Given the description of an element on the screen output the (x, y) to click on. 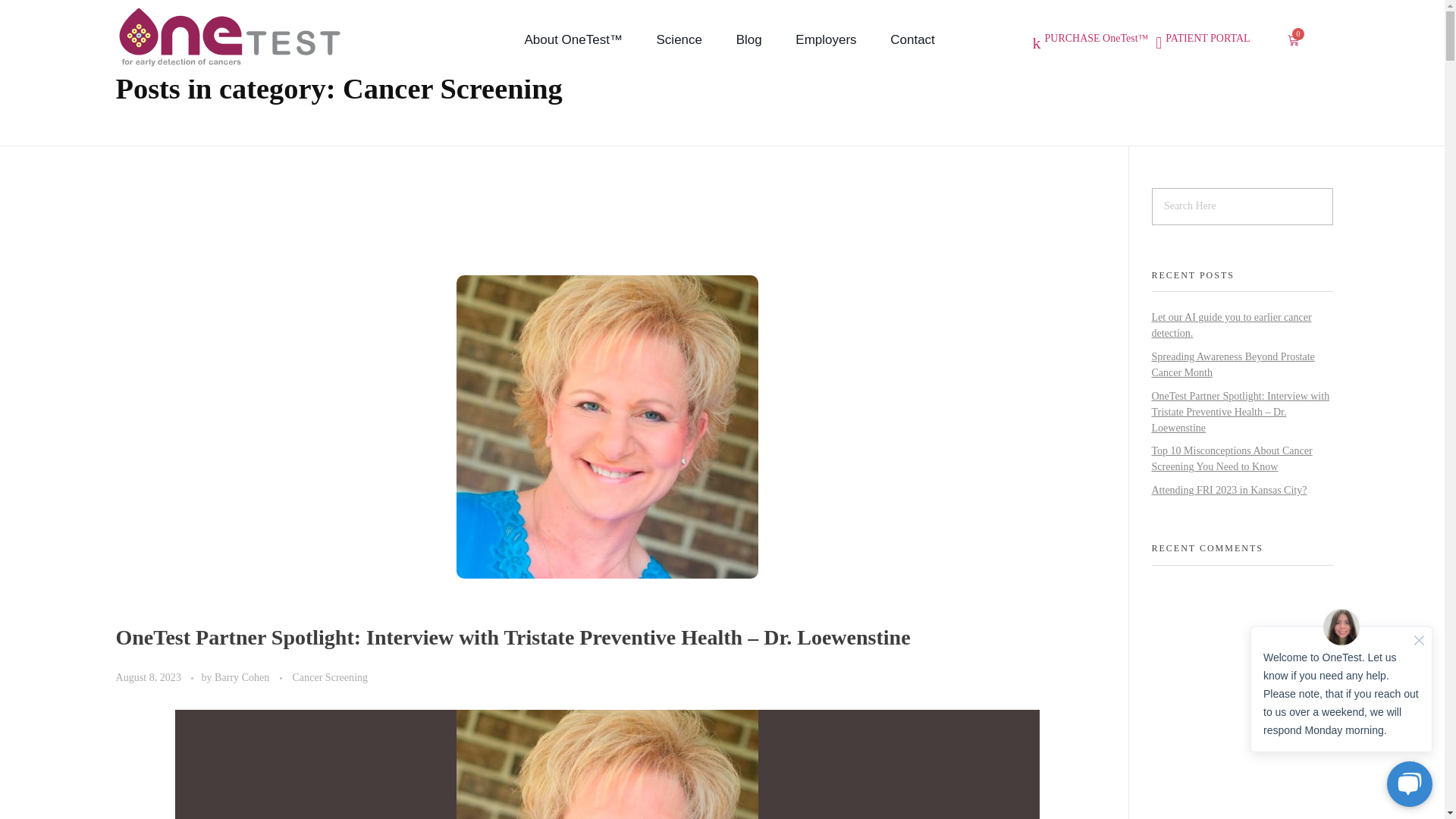
Contact (903, 39)
2023-08-08T12:24:13-04:00 (147, 676)
View all posts in Cancer Screening (330, 677)
0 (1293, 39)
Employers (825, 39)
Science (679, 39)
Home (134, 44)
OneTest for Cancer (217, 75)
Blog (748, 39)
View all posts by Barry Cohen (243, 676)
PATIENT PORTAL (1206, 42)
OneTest for Cancer (198, 75)
OneTest for Cancer (228, 36)
